Given the description of an element on the screen output the (x, y) to click on. 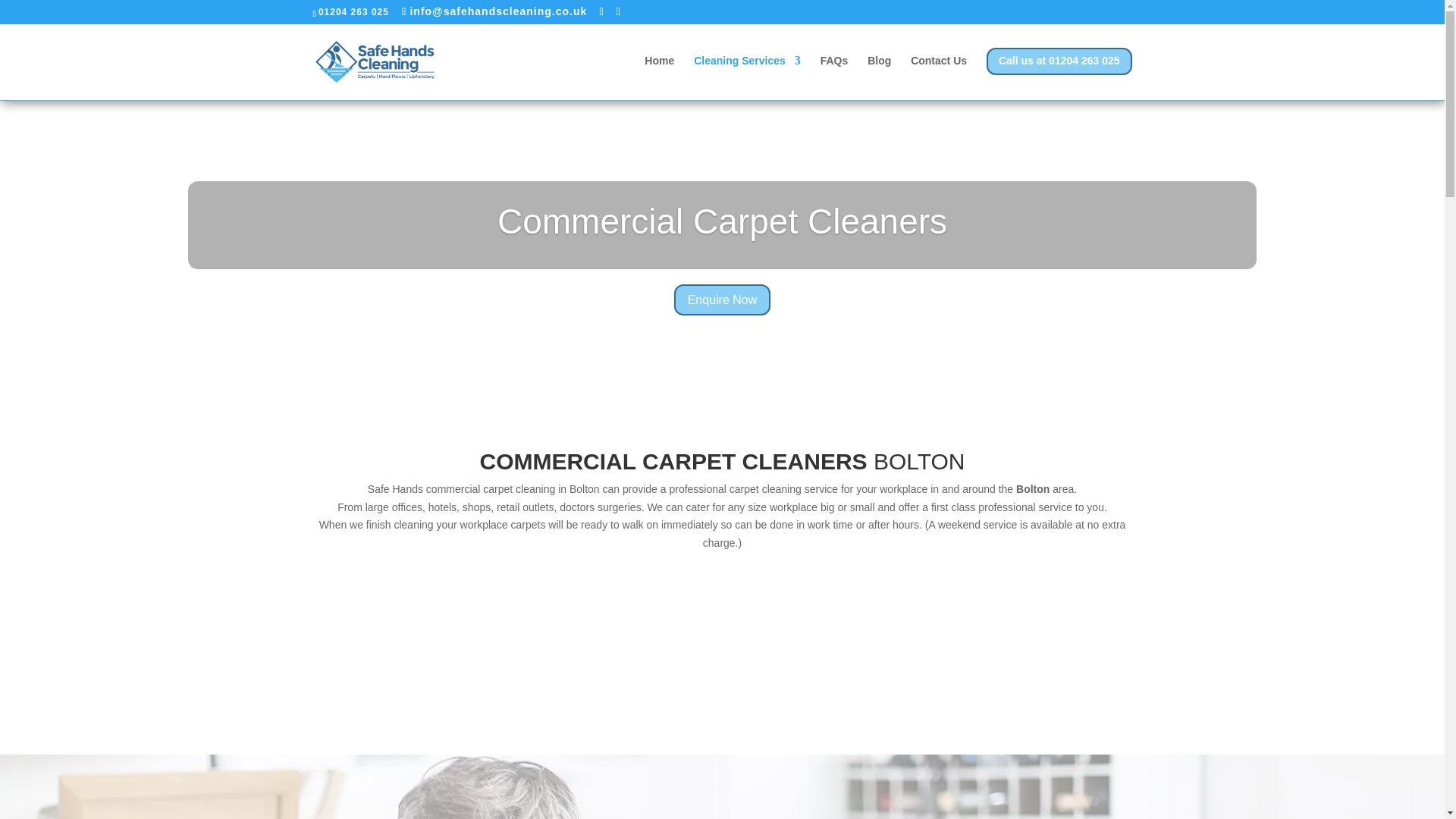
Contact Us (938, 72)
Enquire Now (722, 327)
Call us at 01204 263 025 (1059, 73)
Cleaning Services (747, 72)
Commercial Carpet Cleaners (722, 250)
